Given the description of an element on the screen output the (x, y) to click on. 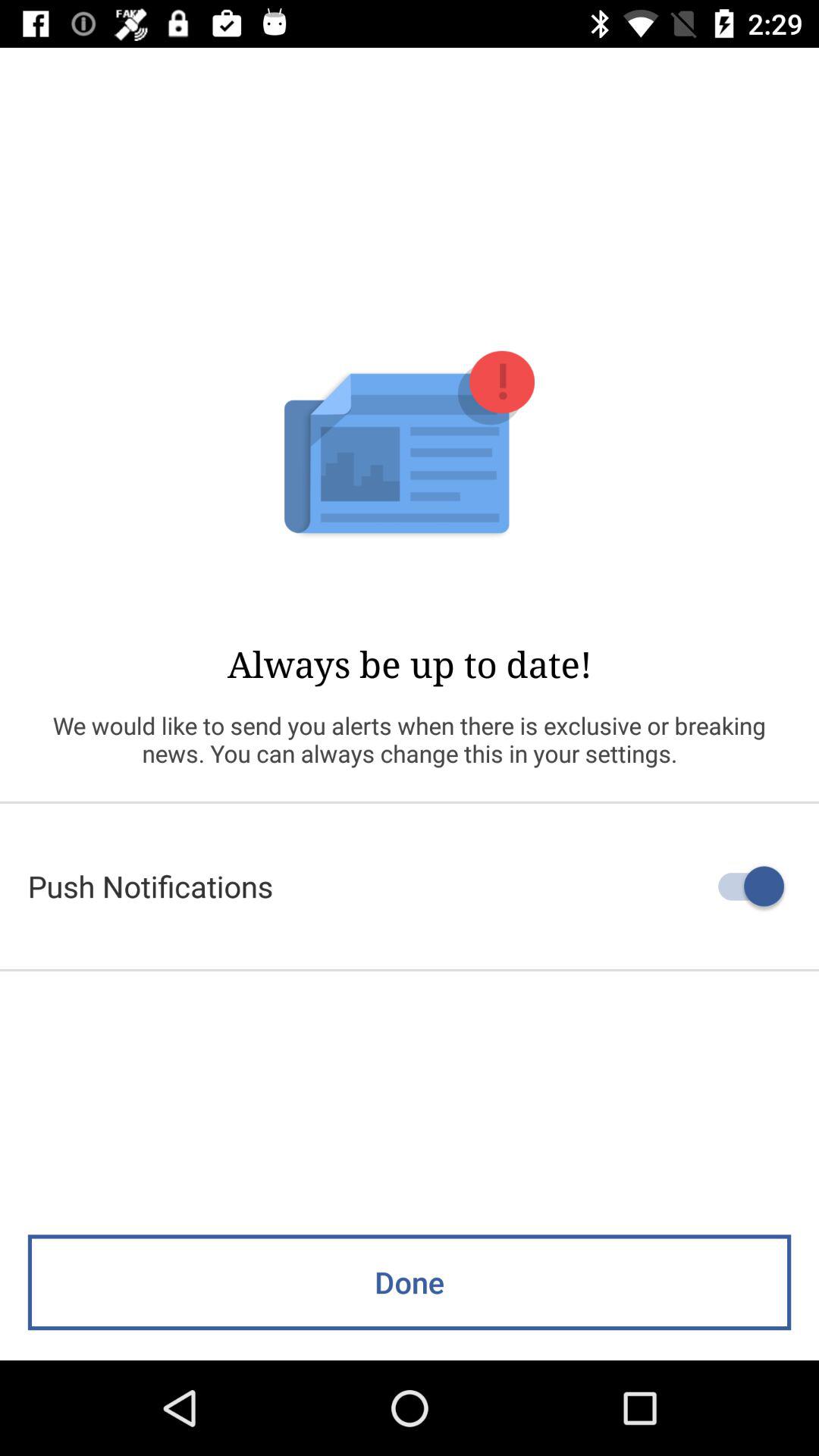
launch the push notifications (409, 886)
